Given the description of an element on the screen output the (x, y) to click on. 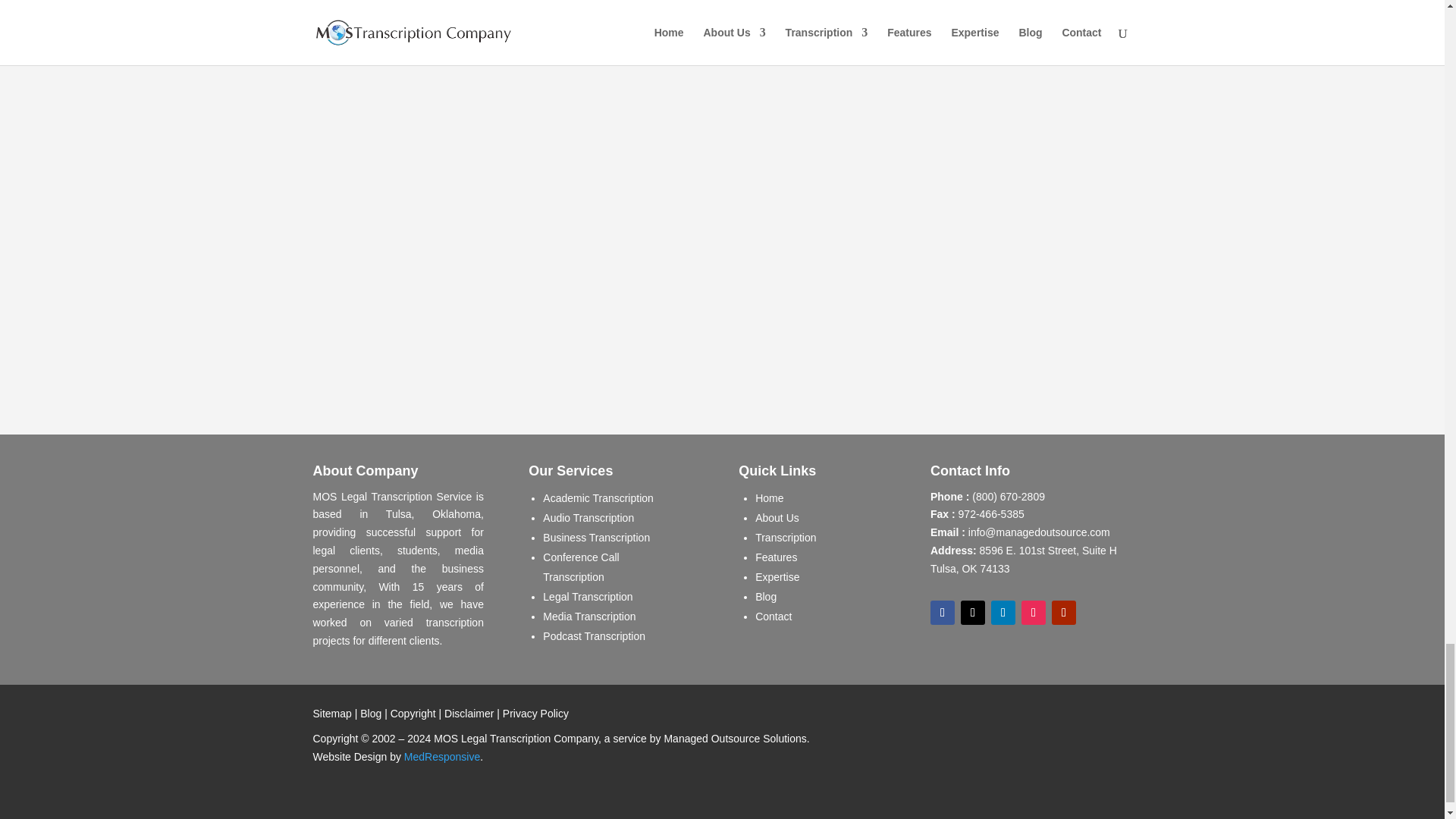
Academic Transcription (598, 498)
